Given the description of an element on the screen output the (x, y) to click on. 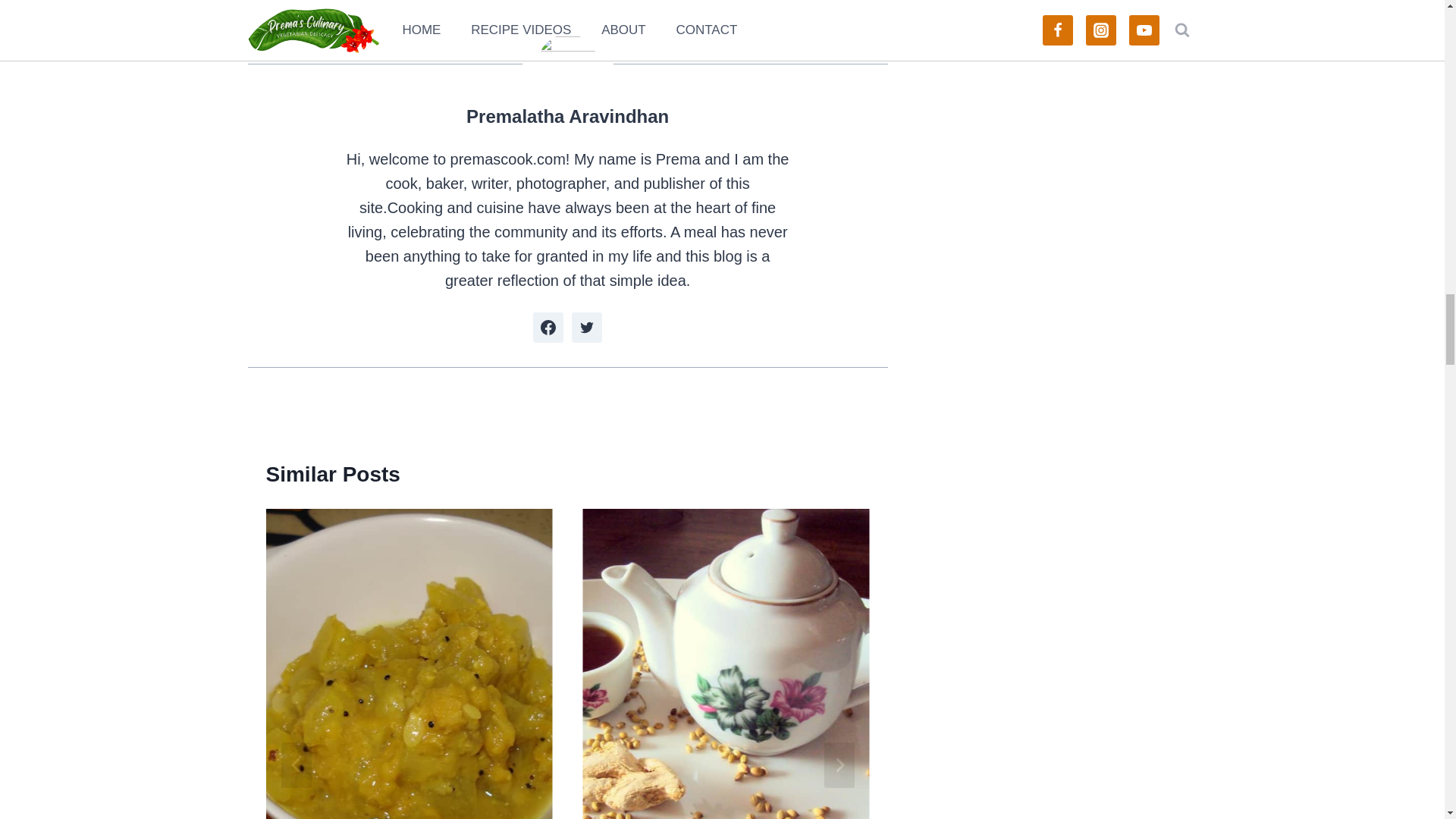
Follow Premalatha Aravindhan on Twitter (587, 327)
Premalatha Aravindhan (566, 116)
Follow Premalatha Aravindhan on Facebook (547, 327)
Posts by Premalatha Aravindhan (566, 116)
